Given the description of an element on the screen output the (x, y) to click on. 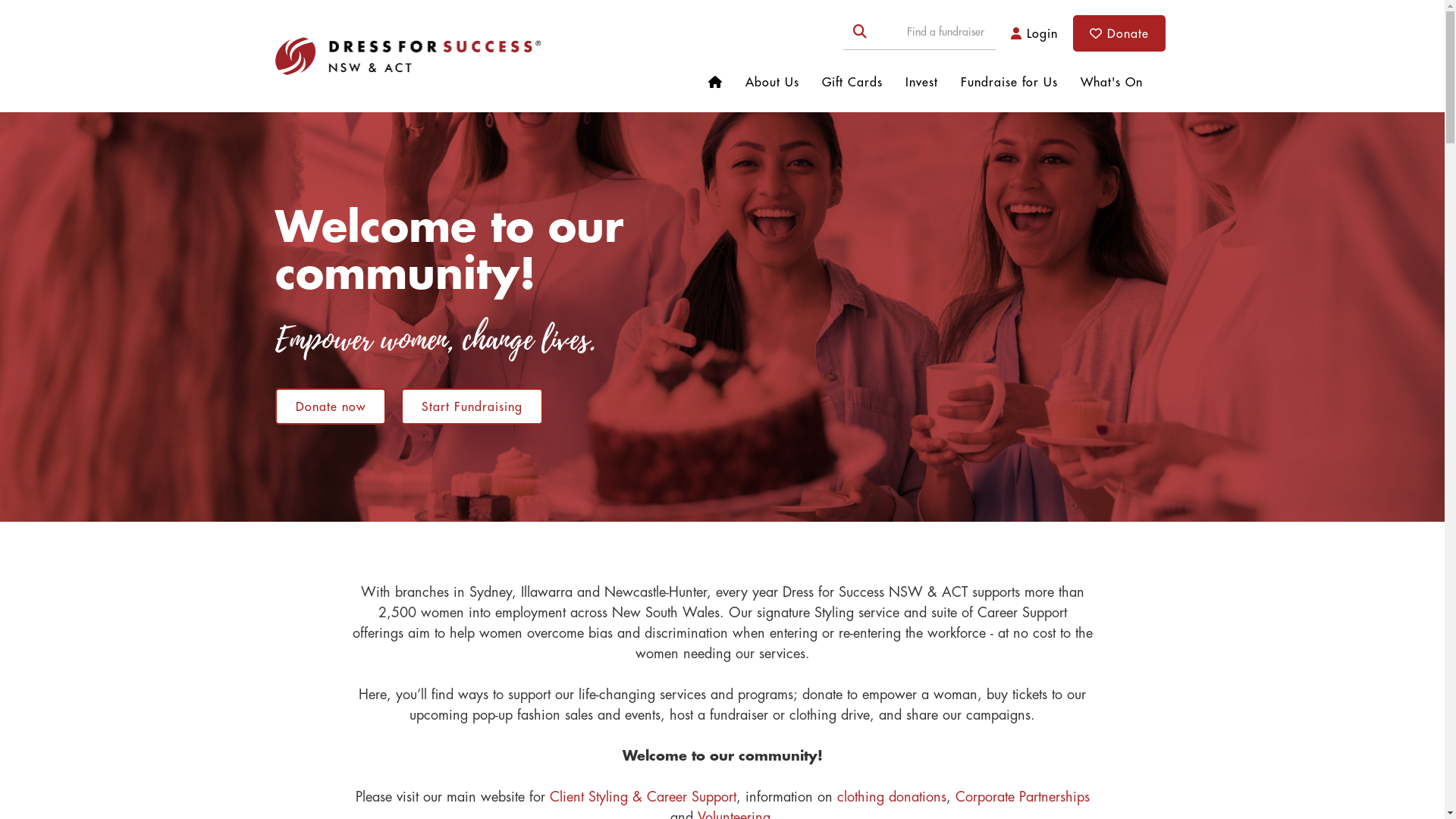
clothing donations Element type: text (891, 796)
Corporate Partnerships Element type: text (1022, 796)
Fundraise for Us Element type: text (1009, 81)
Donate now Element type: text (329, 406)
Gift Cards Element type: text (852, 81)
Login Element type: text (1034, 33)
Invest Element type: text (921, 81)
Client Styling & Career Support Element type: text (642, 796)
Start Fundraising Element type: text (471, 406)
What's On Element type: text (1111, 81)
Donate Element type: text (1119, 33)
About Us Element type: text (772, 81)
